Given the description of an element on the screen output the (x, y) to click on. 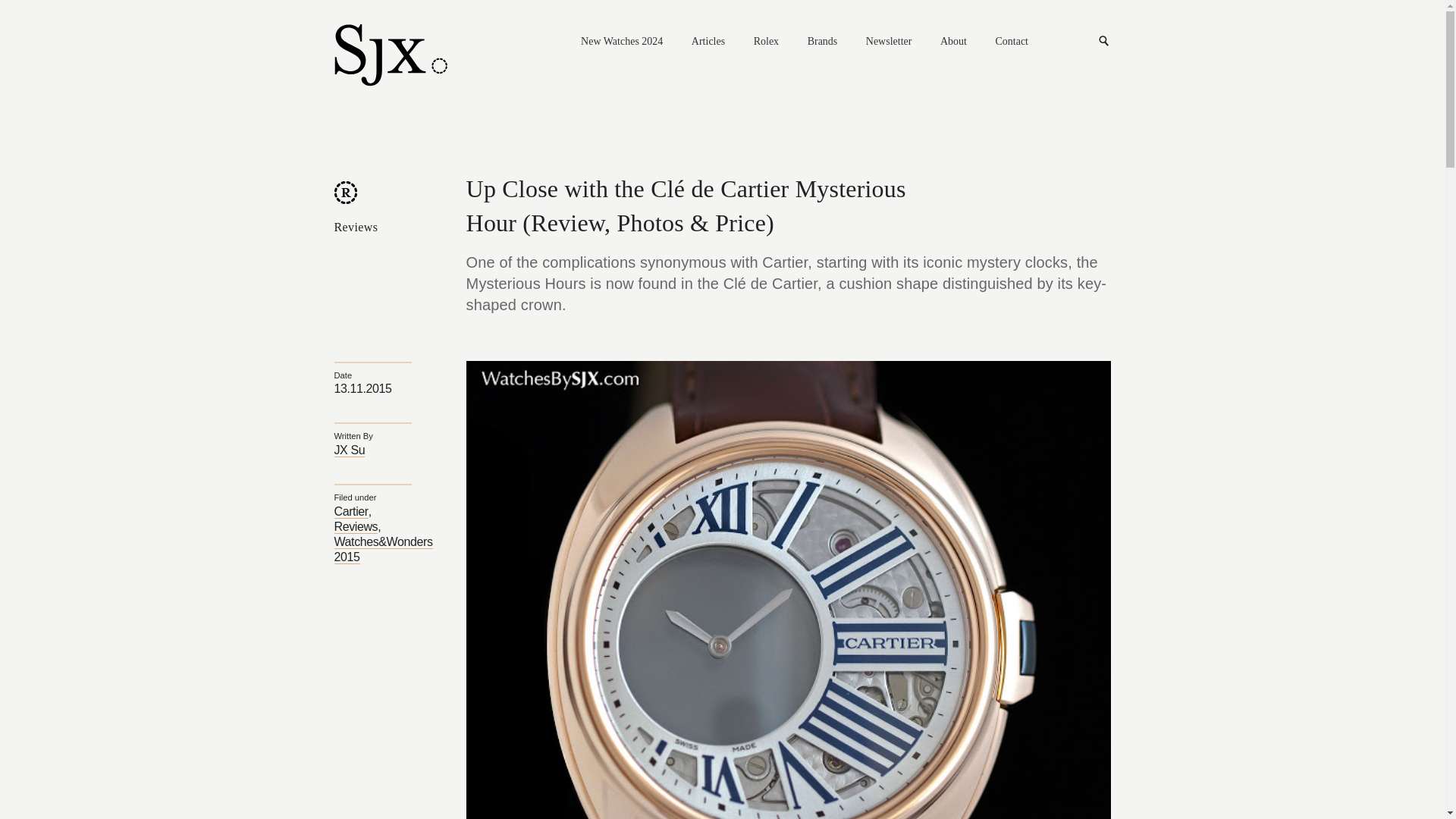
Posts by JX Su (349, 450)
Search (1103, 40)
Rolex (766, 42)
Newsletter (889, 42)
Brands (823, 42)
New Watches 2024 (621, 42)
Articles (708, 42)
Contact (1010, 42)
About (953, 42)
